Given the description of an element on the screen output the (x, y) to click on. 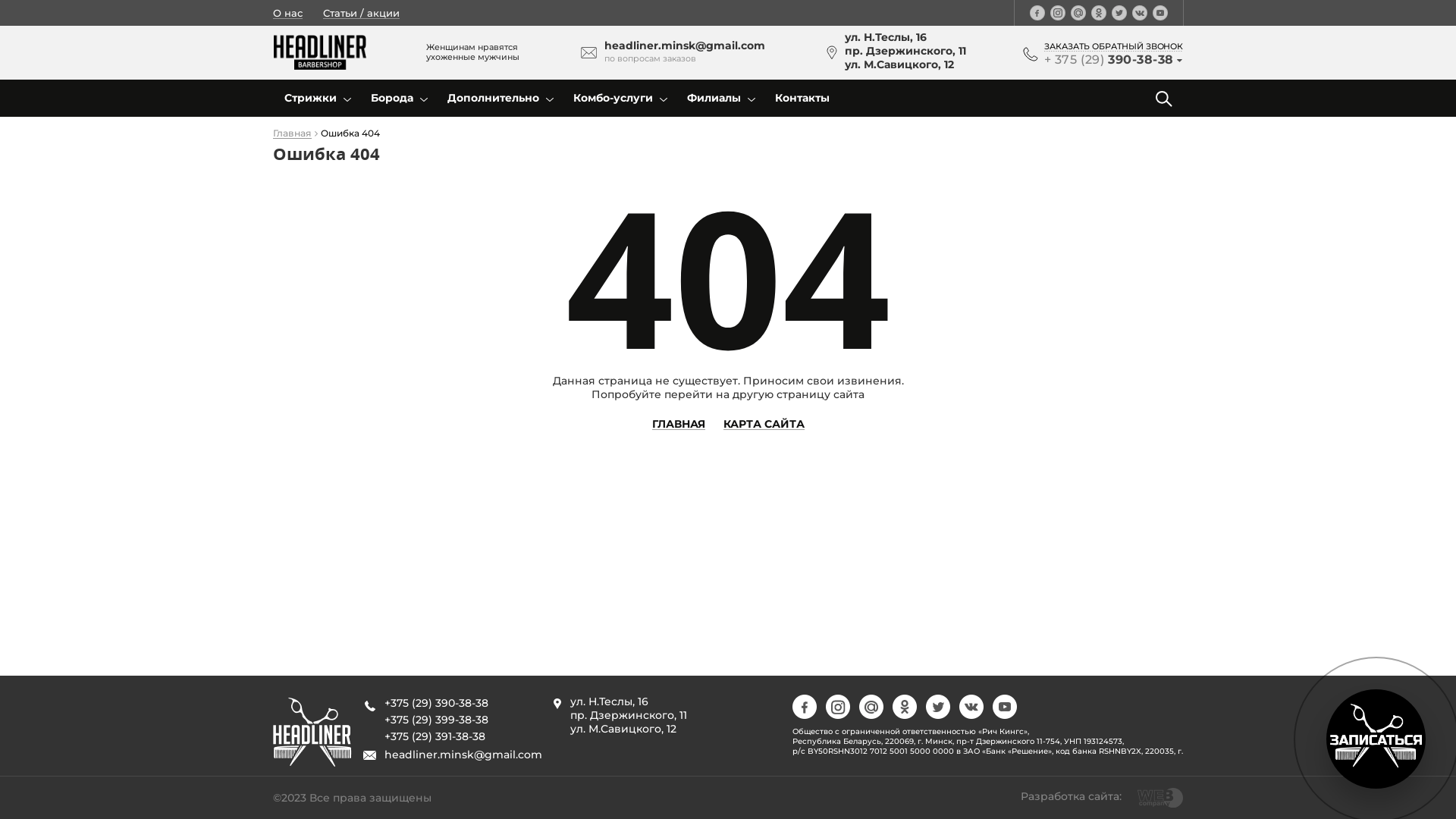
headliner.minsk@gmail.com Element type: text (463, 754)
+375 (29) 399-38-38 Element type: text (436, 719)
+375 (29) 390-38-38 Element type: text (436, 702)
+375 (29) 391-38-38 Element type: text (434, 736)
